Given the description of an element on the screen output the (x, y) to click on. 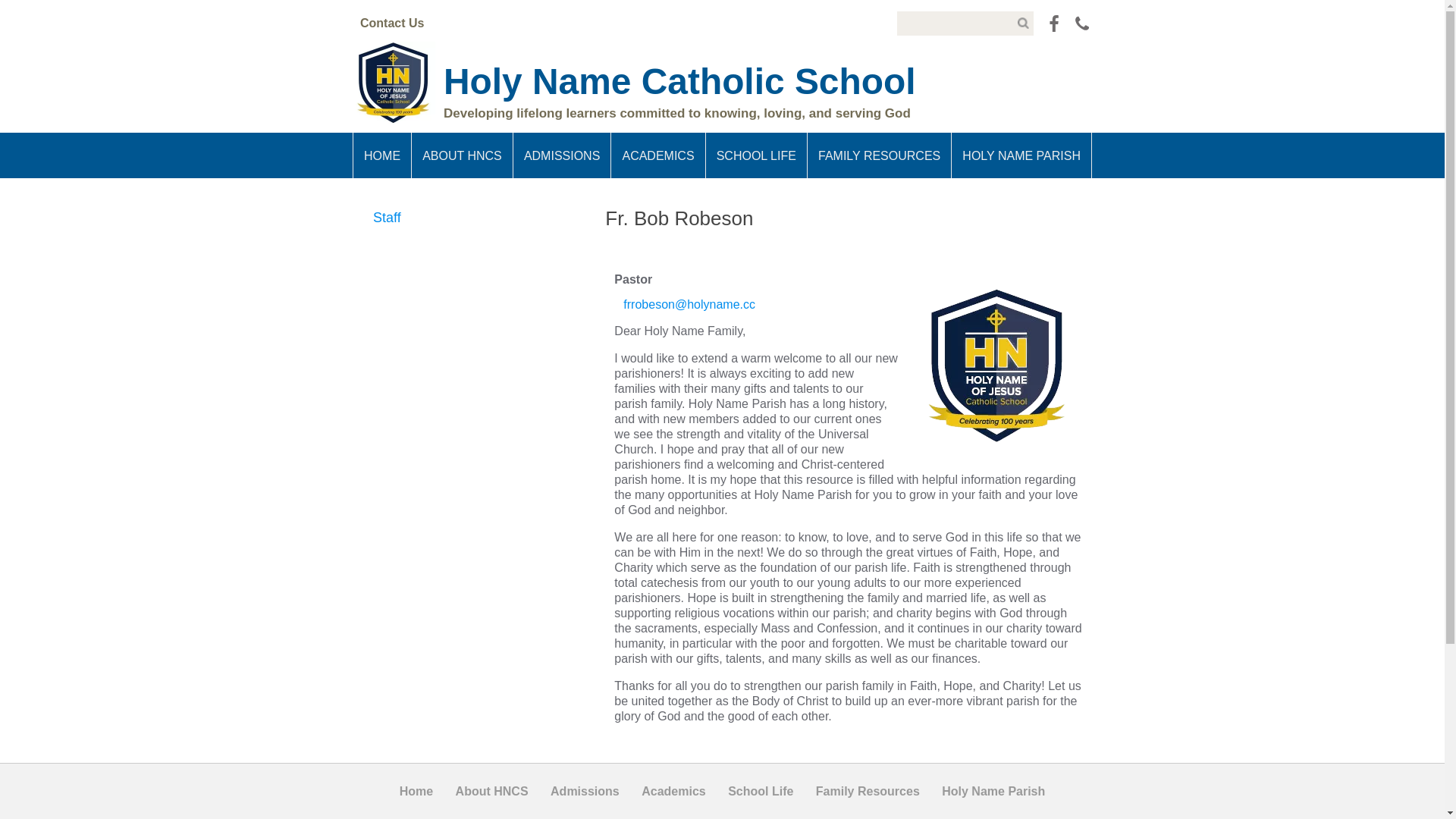
FAMILY RESOURCES Element type: text (879, 155)
Holy Name Parish Element type: text (992, 791)
Family Resources Element type: text (867, 791)
HOLY NAME PARISH Element type: text (1021, 155)
Contact Us Element type: text (391, 23)
frrobesonholyname.cc Element type: text (848, 304)
ABOUT HNCS Element type: text (462, 155)
Staff Element type: text (469, 217)
ADMISSIONS Element type: text (562, 155)
ACADEMICS Element type: text (658, 155)
Facebook Element type: text (1054, 23)
Phone Element type: text (1082, 23)
Admissions Element type: text (584, 791)
School Life Element type: text (760, 791)
Home Element type: text (416, 791)
Academics Element type: text (673, 791)
SCHOOL LIFE Element type: text (756, 155)
HOME Element type: text (381, 155)
Holy Name Catholic School Element type: text (679, 81)
About HNCS Element type: text (491, 791)
